Given the description of an element on the screen output the (x, y) to click on. 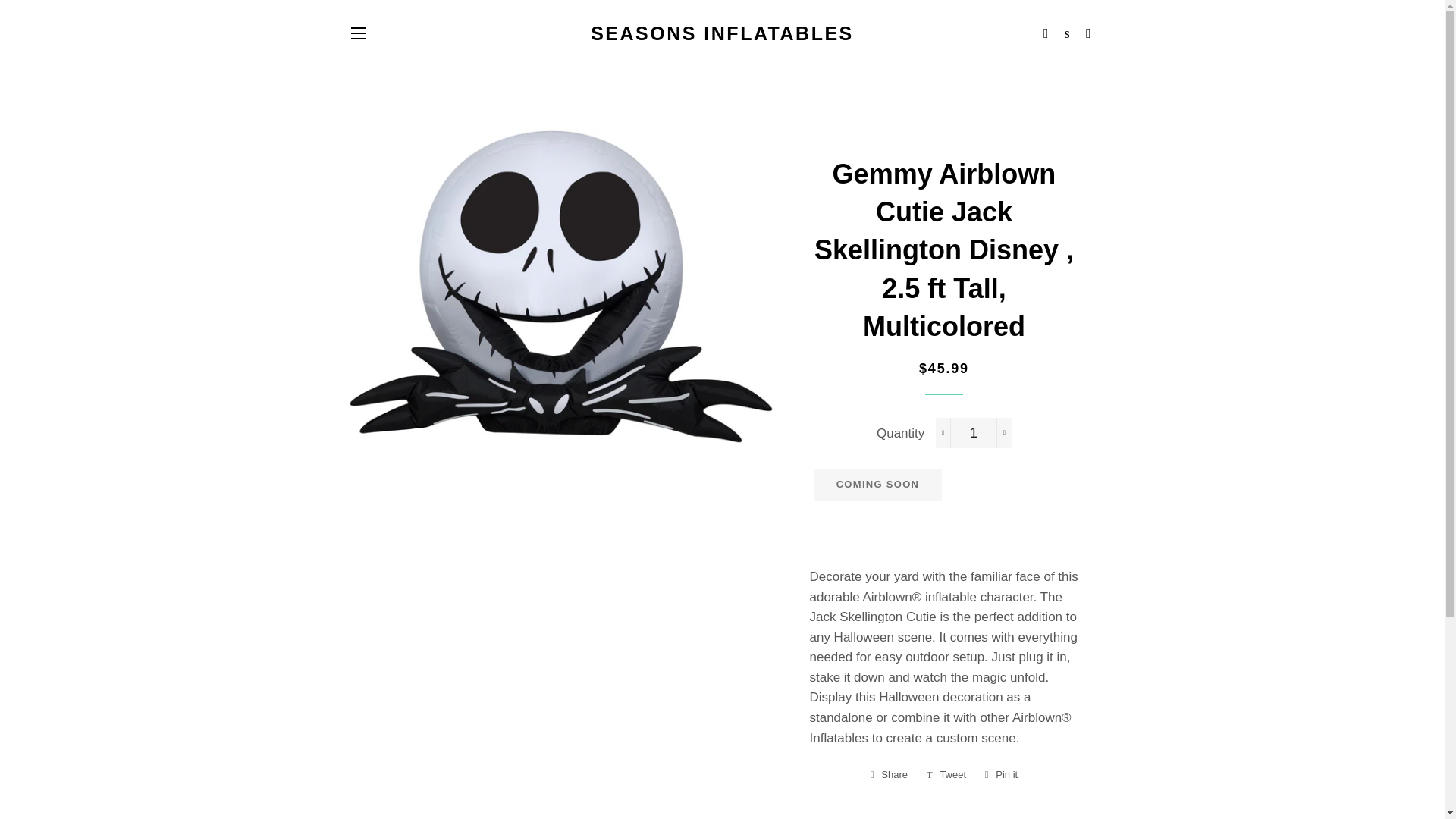
Pin on Pinterest (1000, 774)
Share on Facebook (889, 774)
Tweet on Twitter (946, 774)
1 (973, 432)
